Given the description of an element on the screen output the (x, y) to click on. 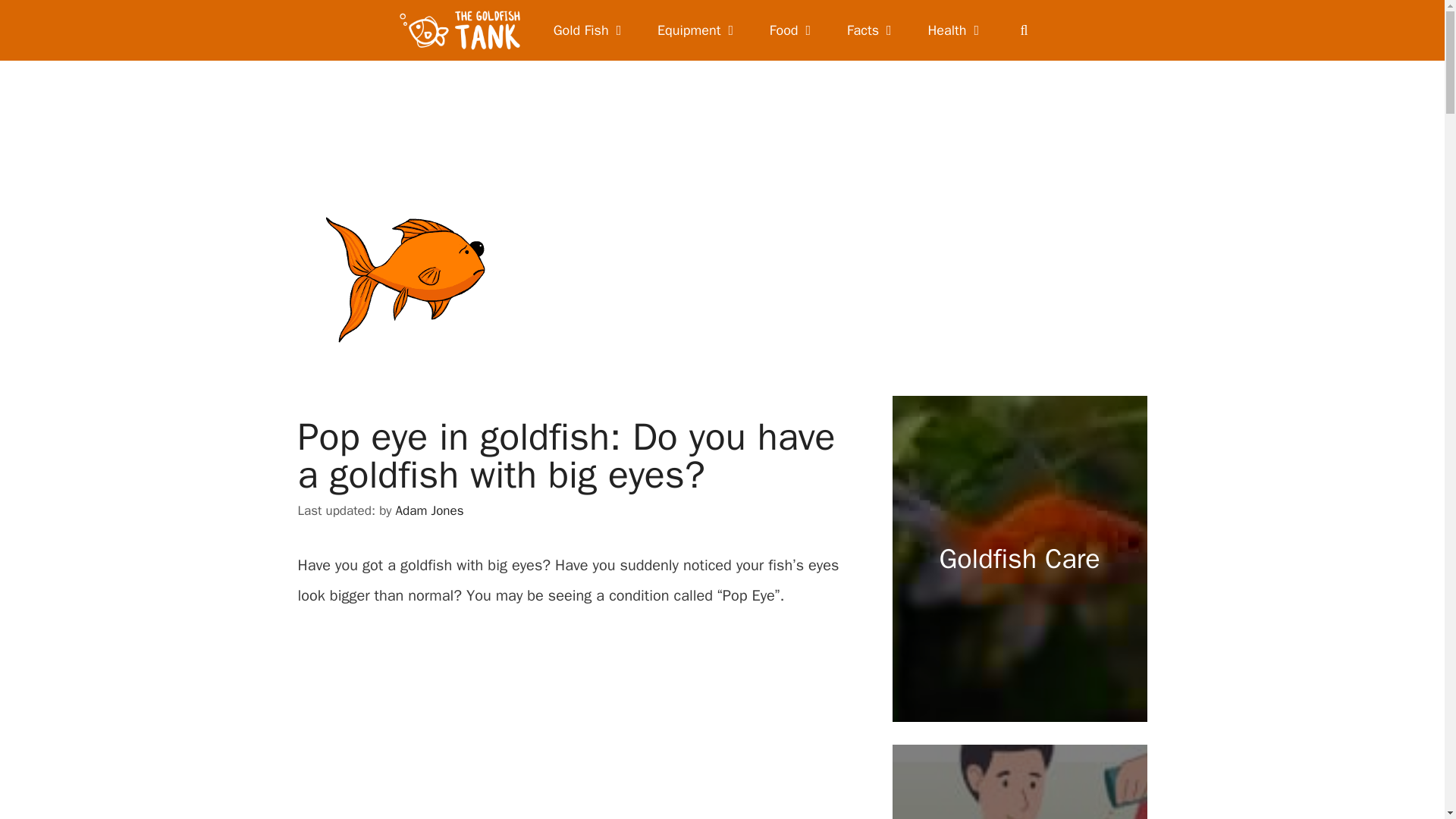
Facts (871, 30)
Food (792, 30)
The Goldfish Tank (459, 30)
The Goldfish Tank (463, 30)
Equipment (698, 30)
View all posts by Adam Jones (430, 509)
Gold Fish (590, 30)
Goldfish Facts (871, 30)
